Given the description of an element on the screen output the (x, y) to click on. 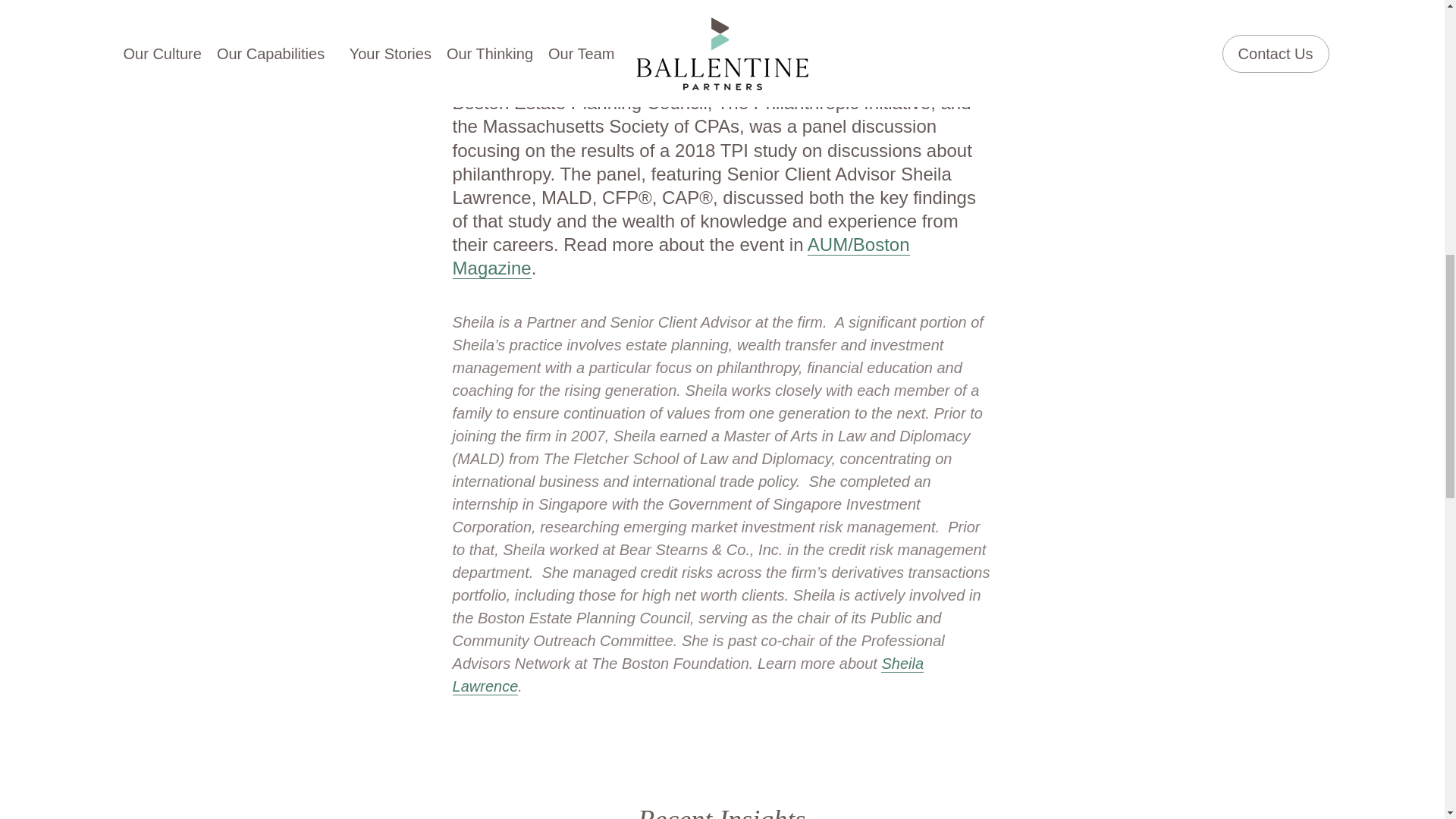
Sheila Lawrence (687, 675)
